Given the description of an element on the screen output the (x, y) to click on. 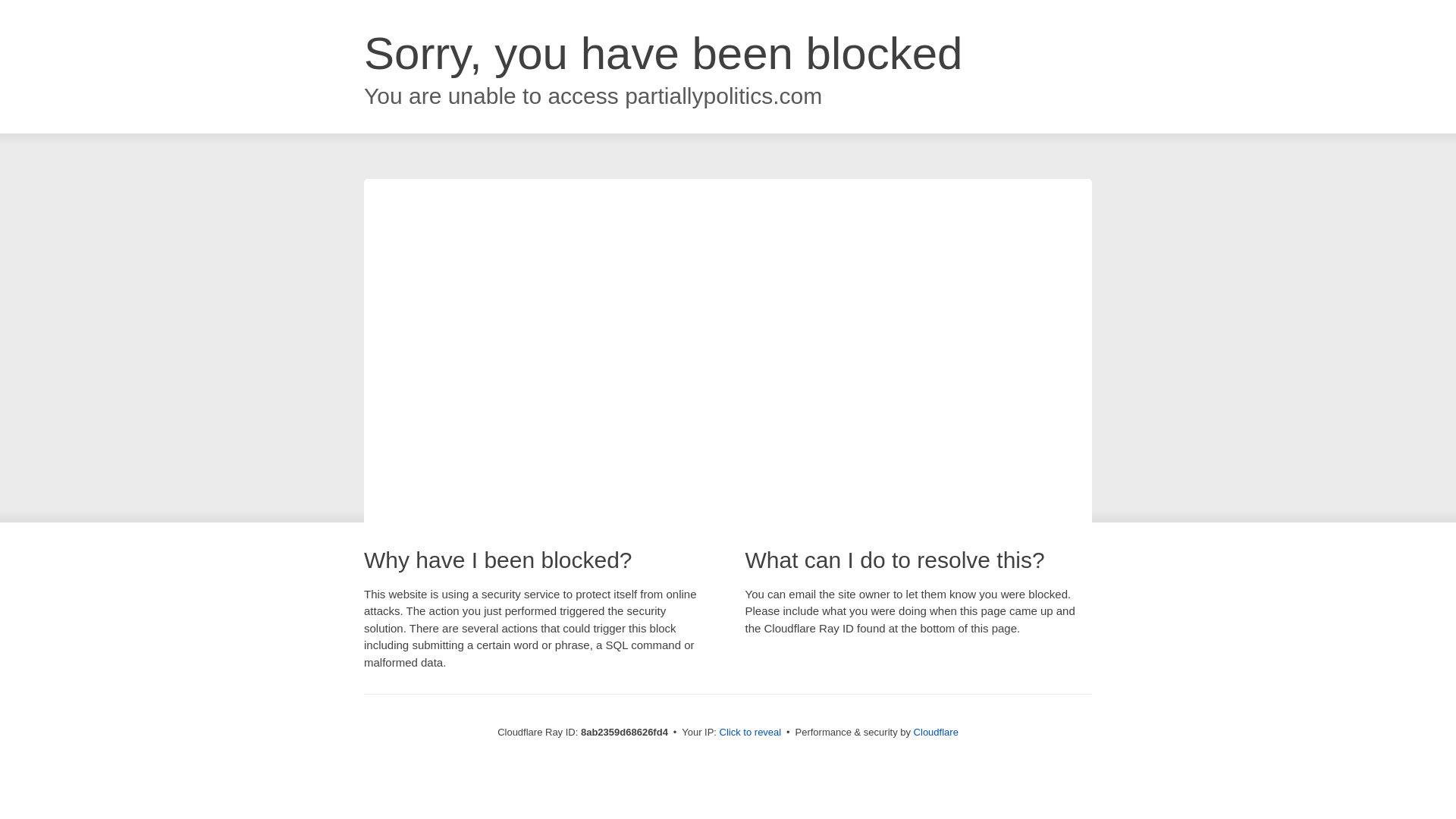
Click to reveal (750, 732)
Cloudflare (936, 731)
